Given the description of an element on the screen output the (x, y) to click on. 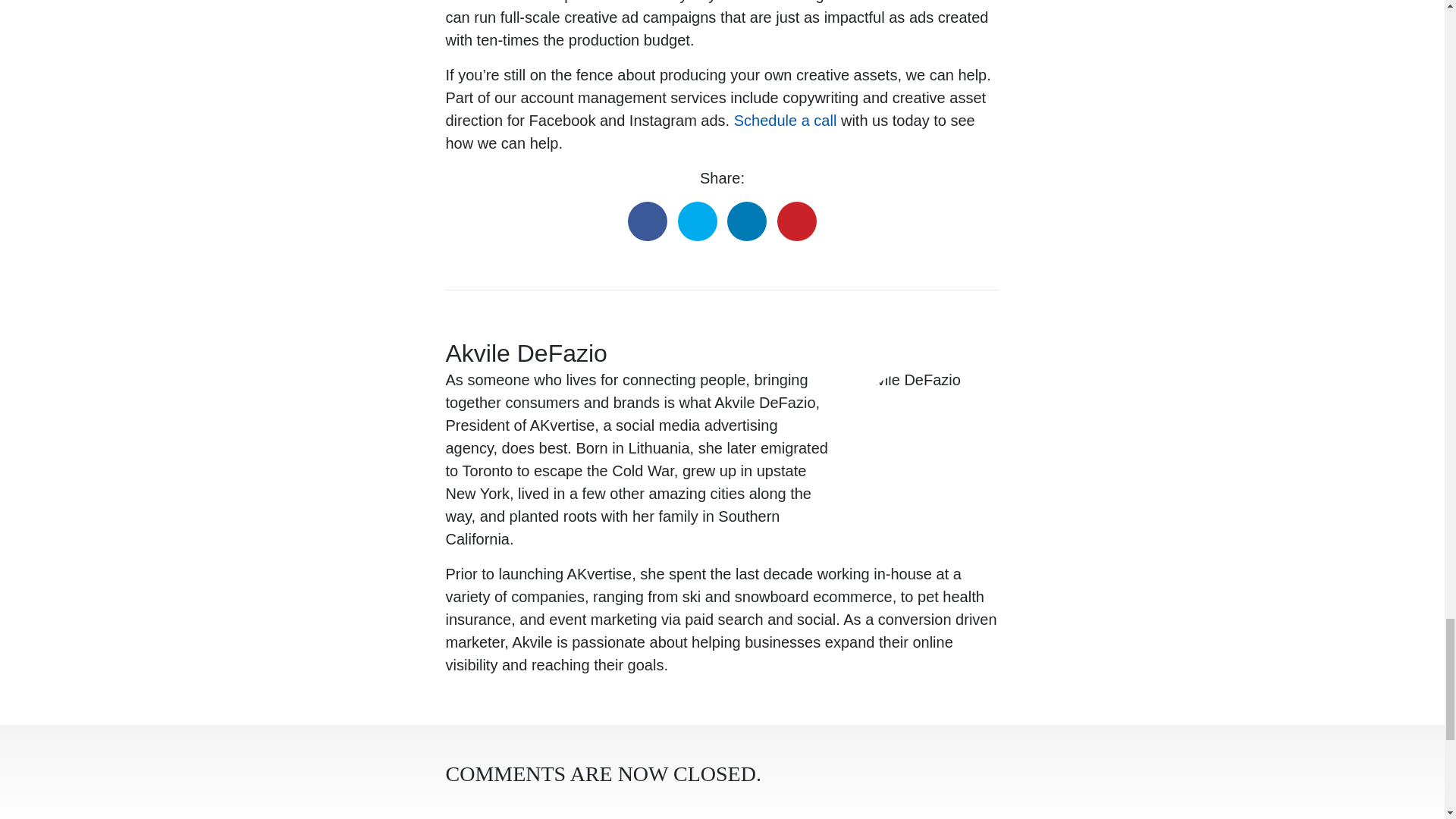
Schedule a call (785, 120)
Share on LinkedIn (746, 220)
Share on Facebook (646, 220)
Share on Twitter (697, 220)
Share on Pinterest (796, 220)
